Given the description of an element on the screen output the (x, y) to click on. 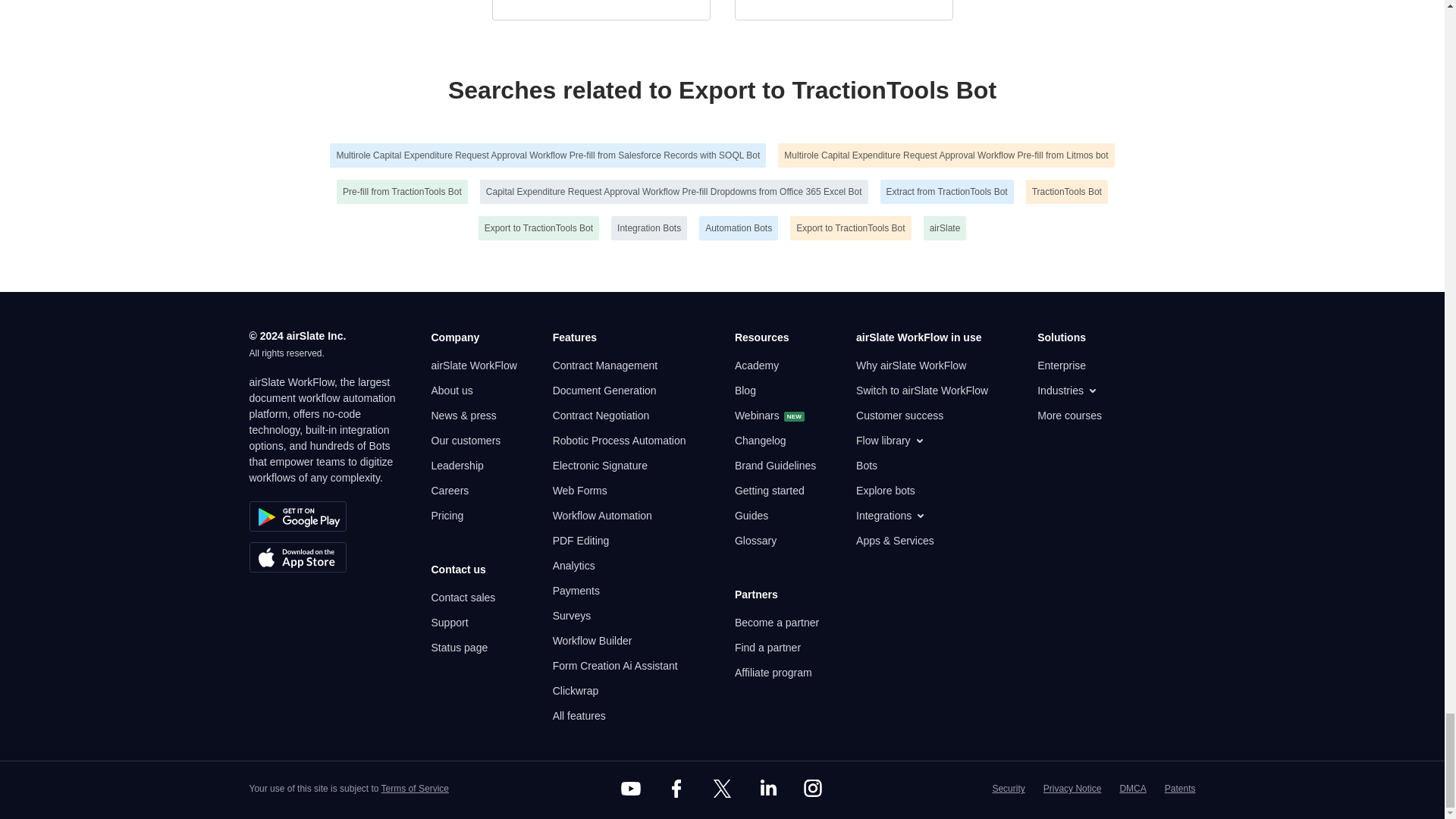
Instagram (812, 788)
Facebook (676, 788)
Twitter (721, 788)
YouTube (630, 788)
LinkedIn (767, 788)
